Given the description of an element on the screen output the (x, y) to click on. 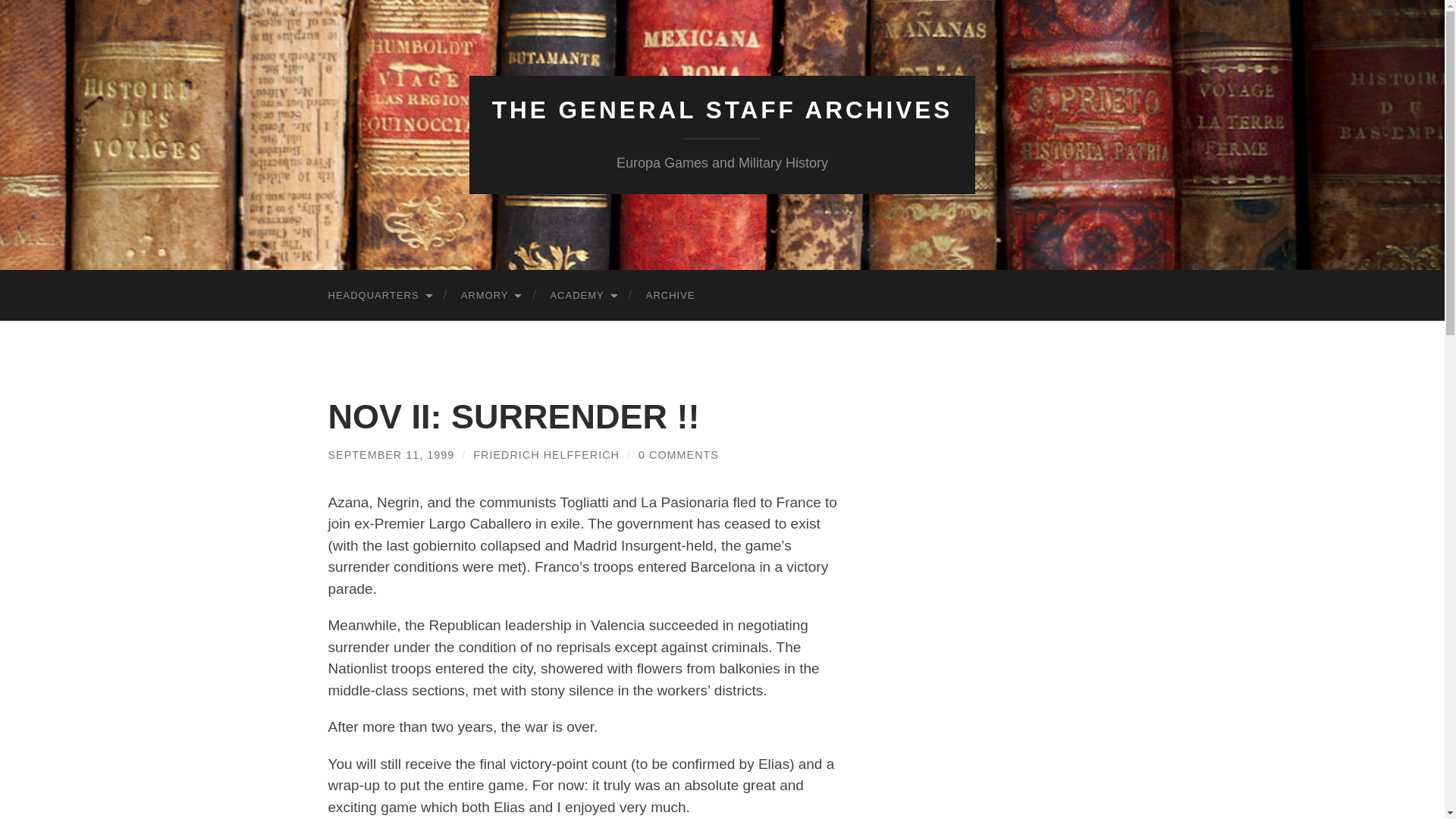
Posts by Friedrich Helfferich (546, 454)
THE GENERAL STAFF ARCHIVES (722, 109)
HEADQUARTERS (379, 295)
ARMORY (490, 295)
